Given the description of an element on the screen output the (x, y) to click on. 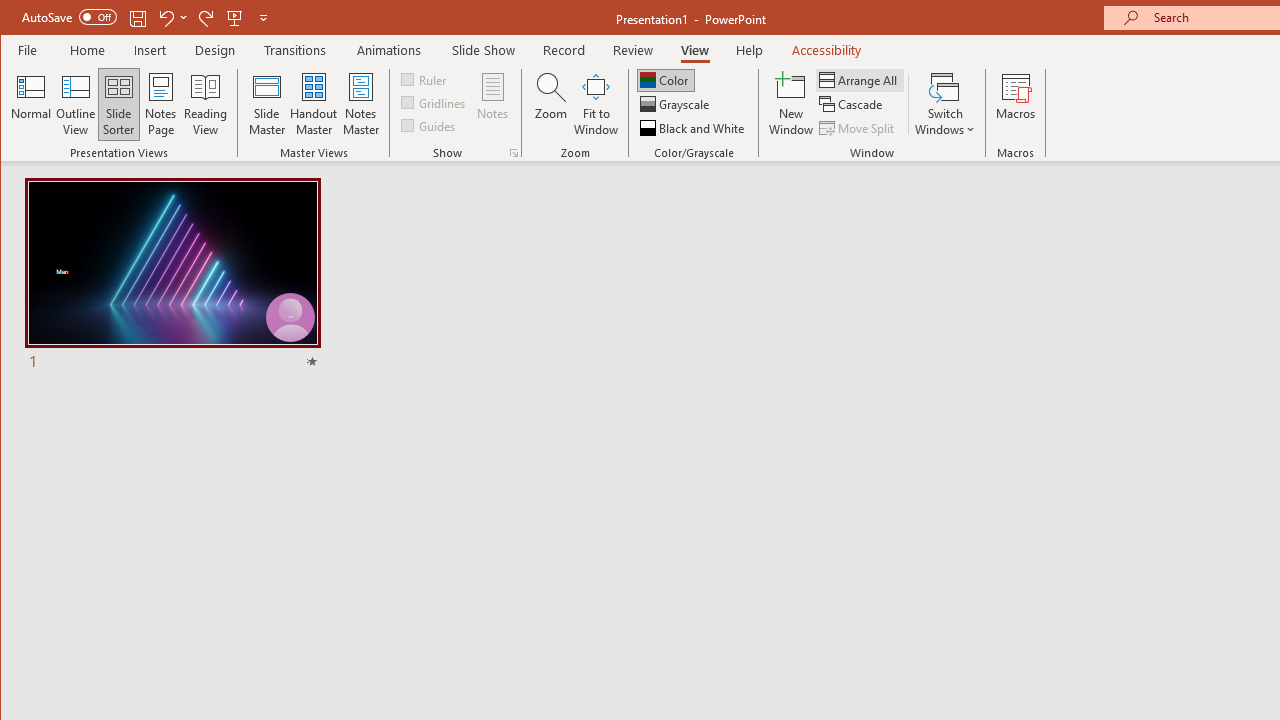
Gridlines (435, 101)
Slide Master (266, 104)
